Given the description of an element on the screen output the (x, y) to click on. 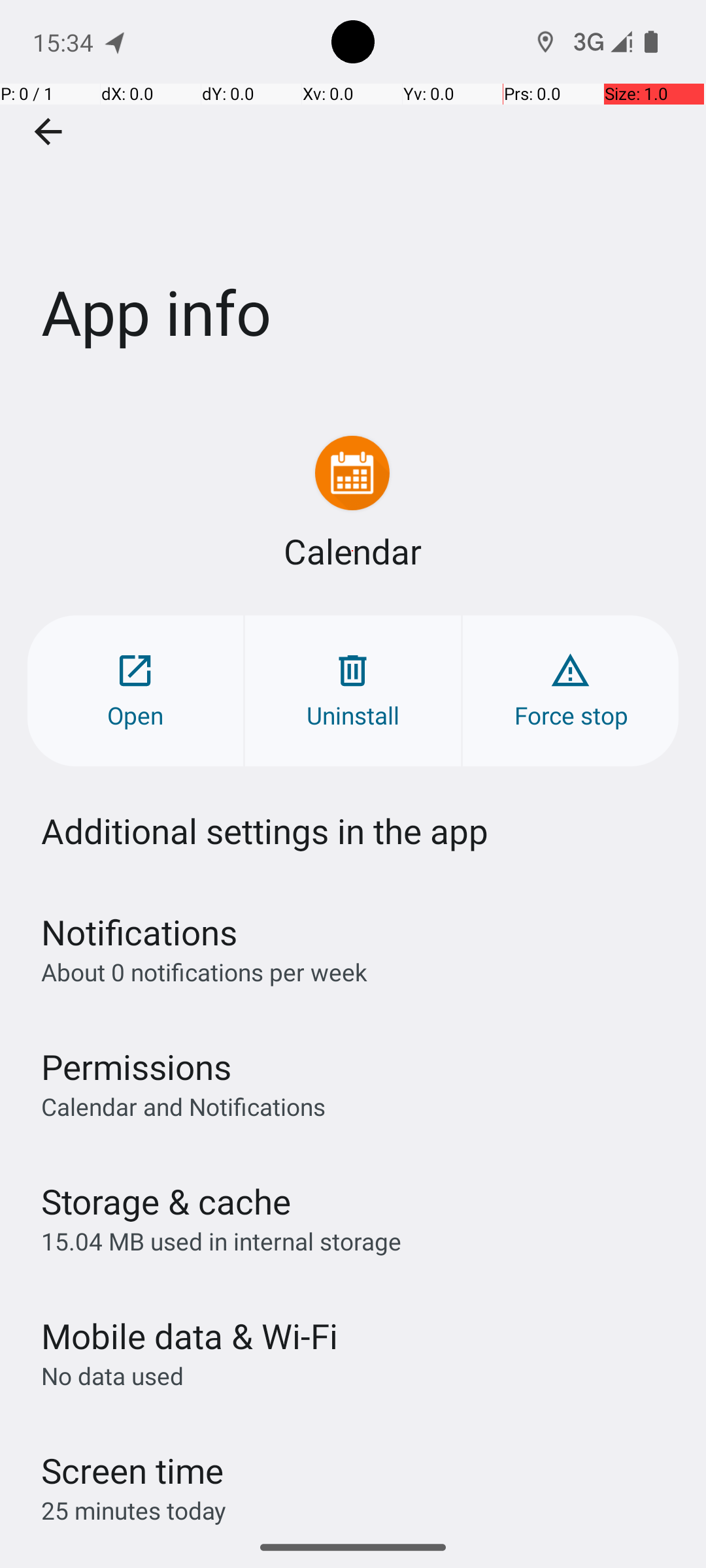
App info Element type: android.widget.FrameLayout (353, 195)
Open Element type: android.widget.Button (135, 690)
Uninstall Element type: android.widget.Button (352, 690)
Force stop Element type: android.widget.Button (570, 690)
Additional settings in the app Element type: android.widget.TextView (264, 830)
Notifications Element type: android.widget.TextView (139, 931)
About 0 notifications per week Element type: android.widget.TextView (204, 971)
Permissions Element type: android.widget.TextView (136, 1066)
Calendar and Notifications Element type: android.widget.TextView (183, 1106)
Storage & cache Element type: android.widget.TextView (166, 1200)
15.04 MB used in internal storage Element type: android.widget.TextView (221, 1240)
Mobile data & Wi‑Fi Element type: android.widget.TextView (189, 1335)
No data used Element type: android.widget.TextView (112, 1375)
Screen time Element type: android.widget.TextView (132, 1470)
25 minutes today Element type: android.widget.TextView (133, 1509)
